Given the description of an element on the screen output the (x, y) to click on. 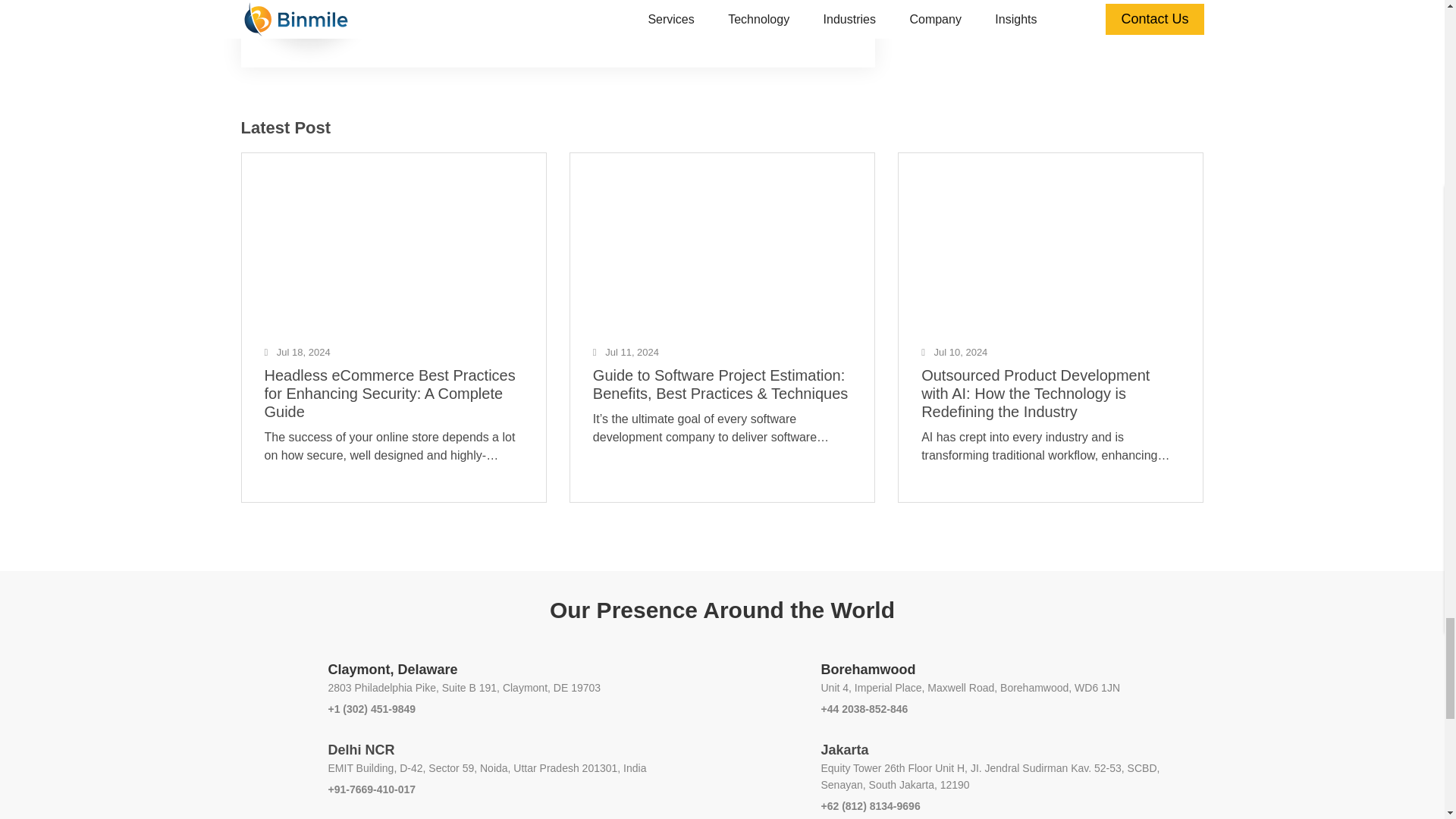
Twitter (436, 5)
LinkedIn (401, 5)
